Given the description of an element on the screen output the (x, y) to click on. 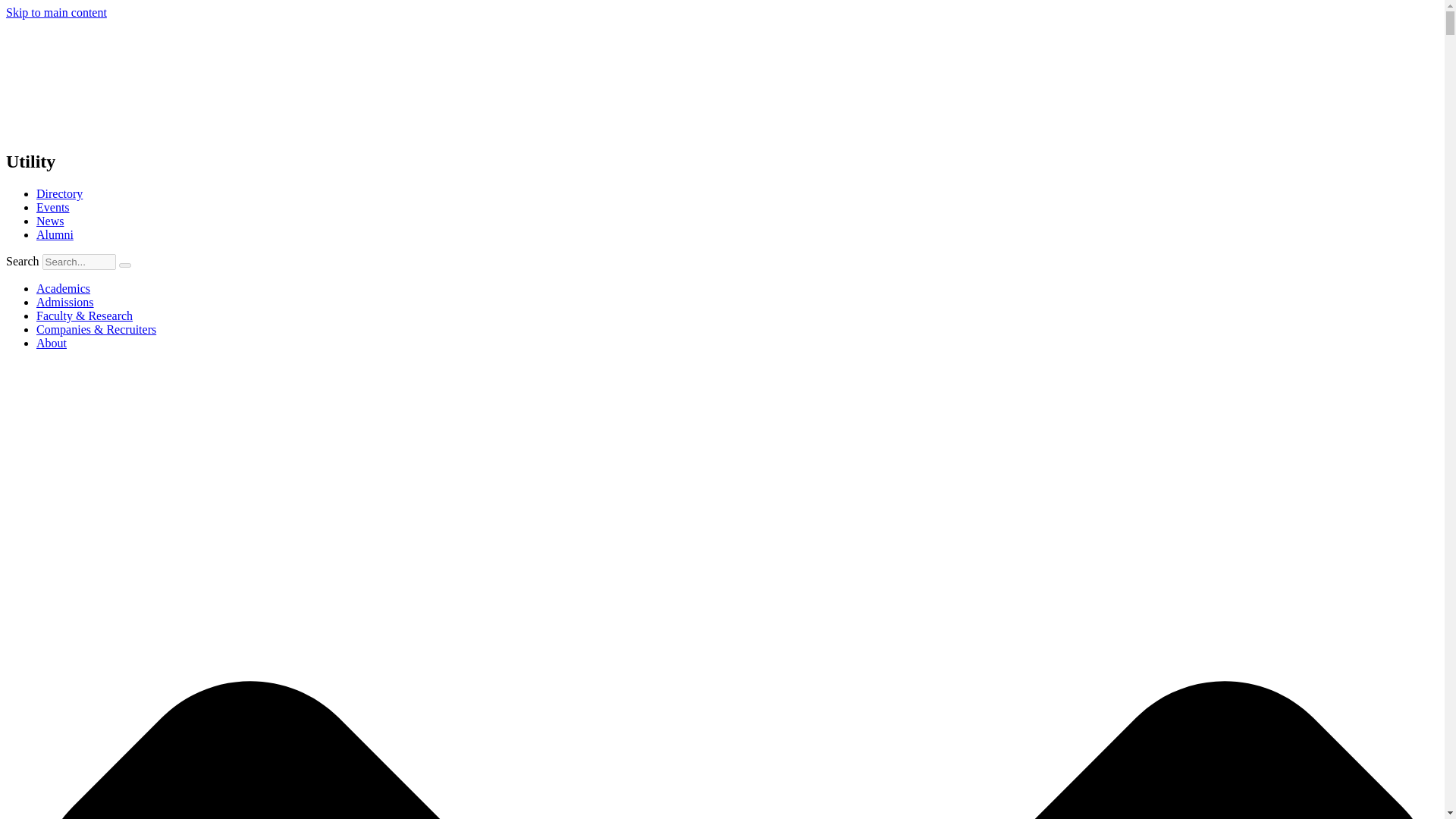
Admissions (65, 301)
LeBow News (50, 220)
Skip to main content (55, 11)
News (50, 220)
Academics (63, 287)
Directory (59, 193)
Upcoming events at LeBow College of Business (52, 206)
Events (52, 206)
LeBow College of Business (118, 76)
Admissions information for all of our programs (65, 301)
